Given the description of an element on the screen output the (x, y) to click on. 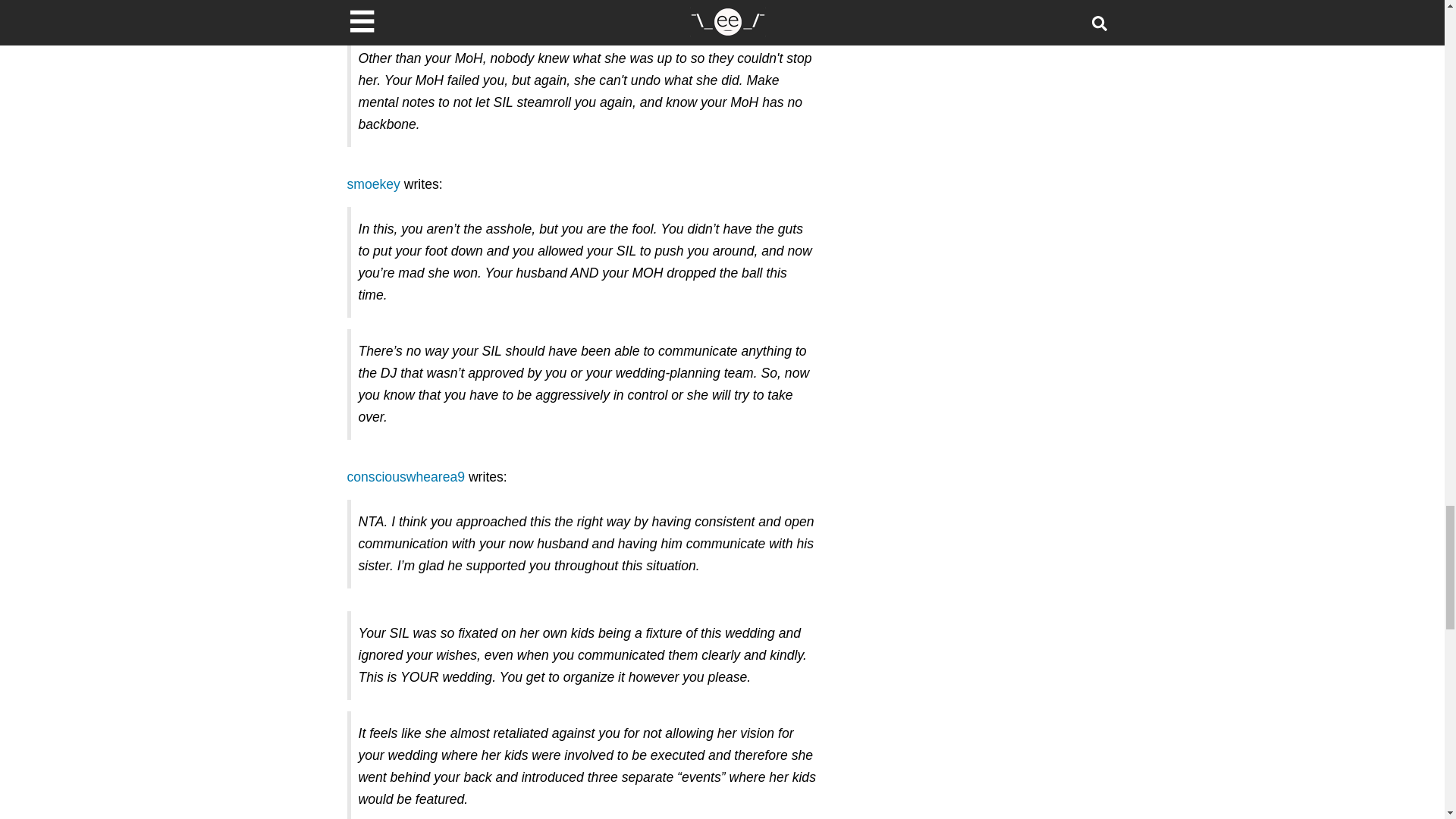
smoekey (373, 183)
consciouswhearea9 (406, 476)
